Given the description of an element on the screen output the (x, y) to click on. 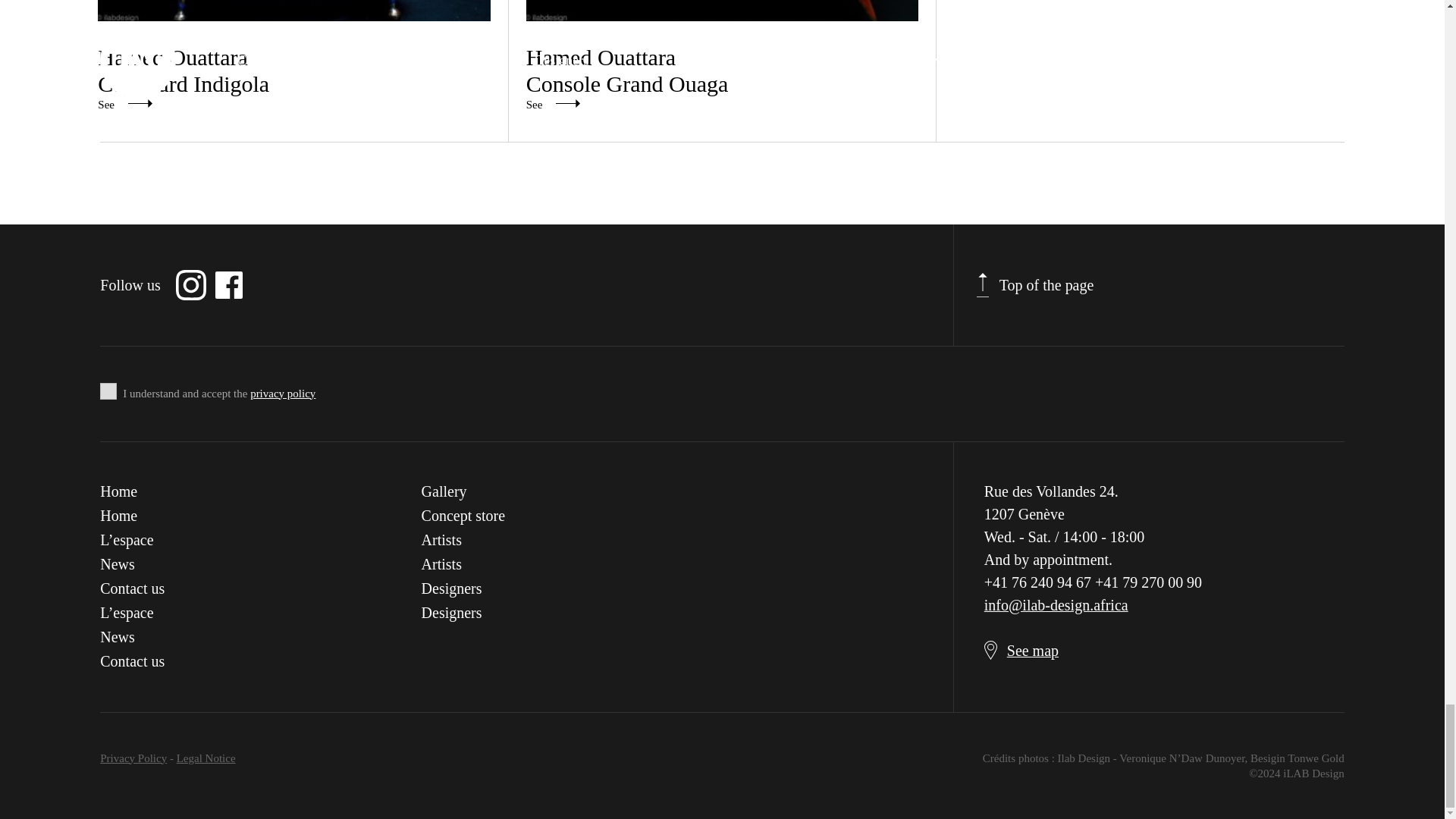
Top of the page (293, 55)
